Given the description of an element on the screen output the (x, y) to click on. 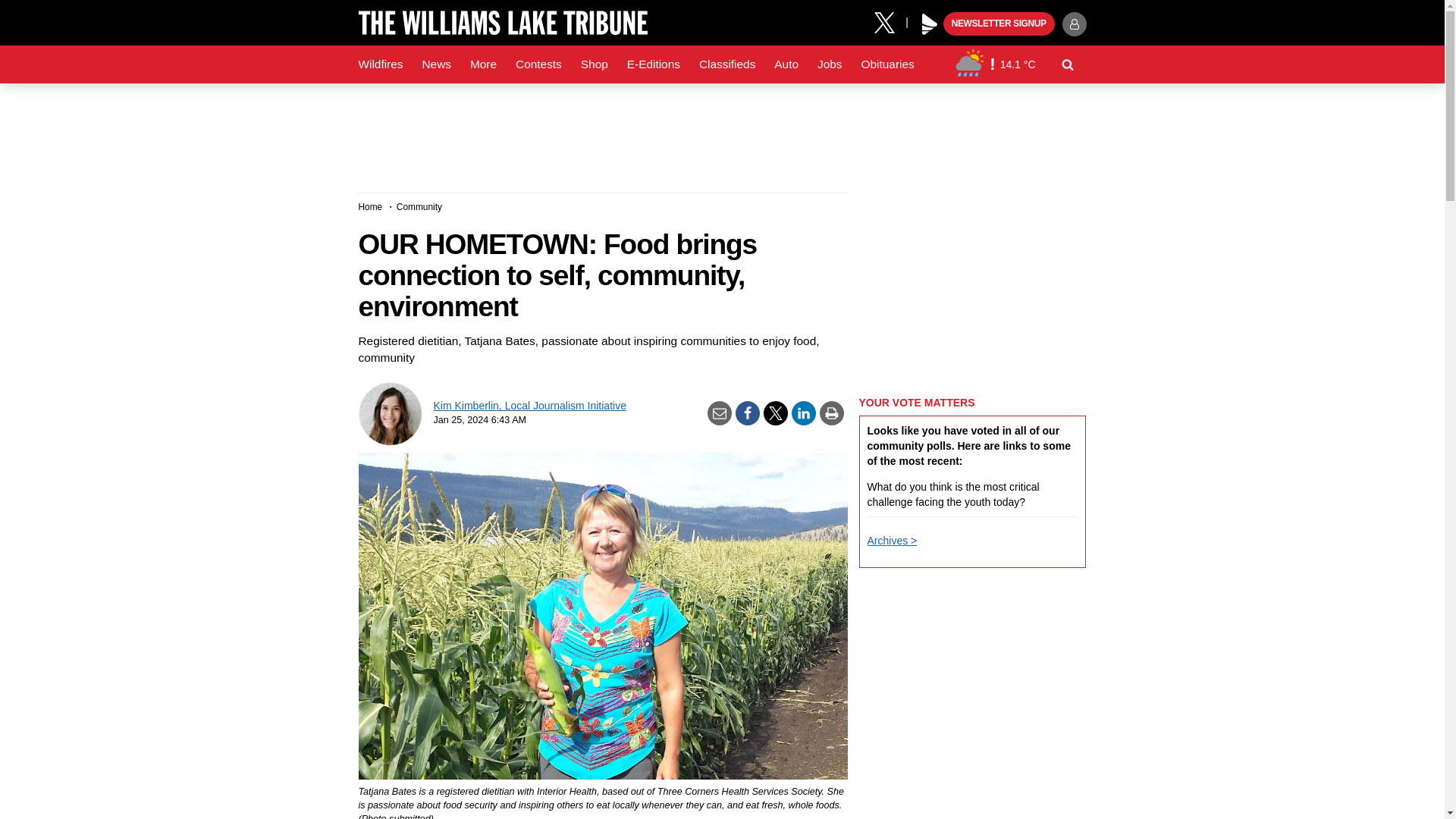
Wildfires (380, 64)
NEWSLETTER SIGNUP (998, 24)
Black Press Media (929, 24)
News (435, 64)
X (889, 21)
Play (929, 24)
